Given the description of an element on the screen output the (x, y) to click on. 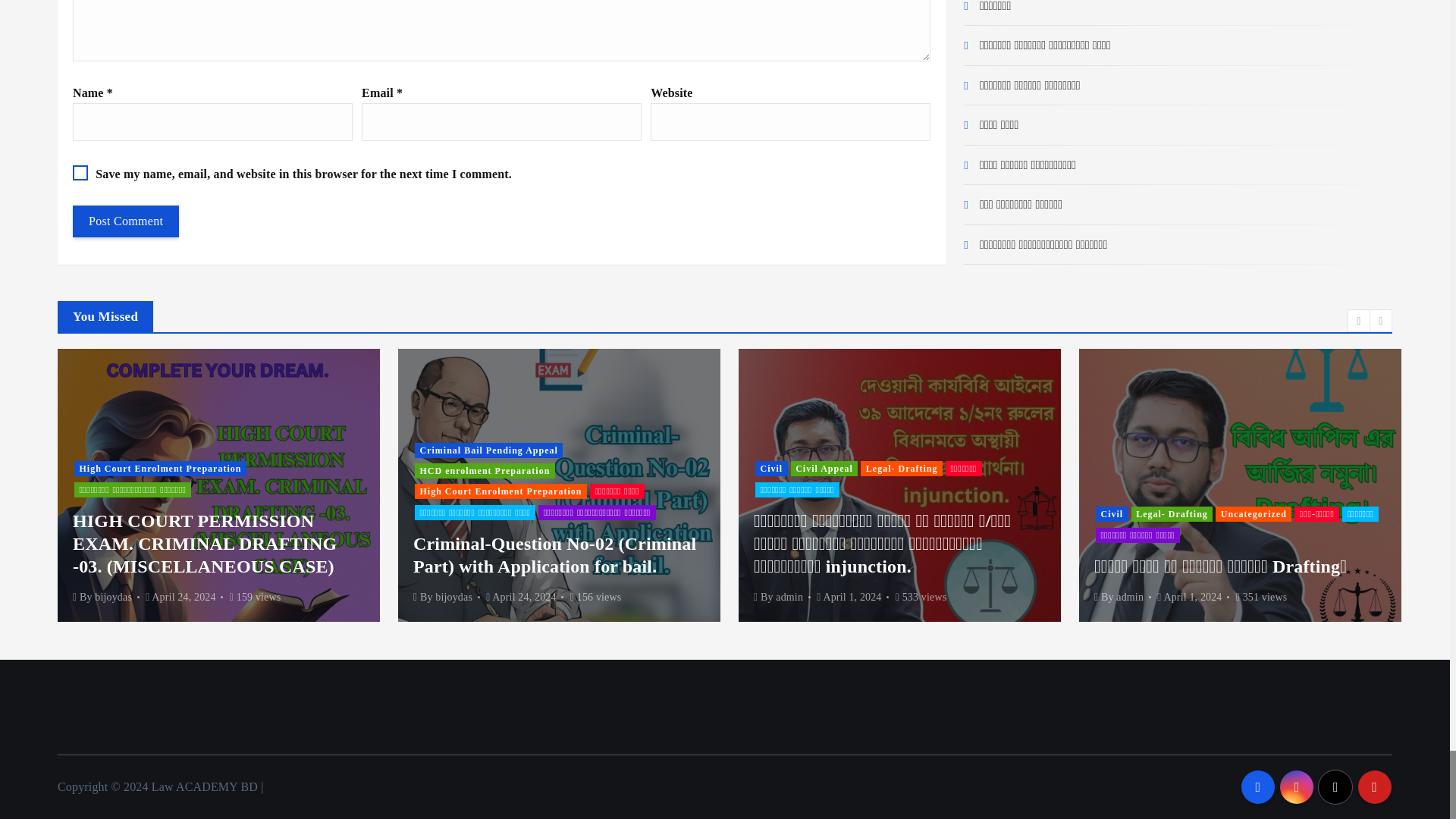
yes (79, 172)
Post Comment (125, 221)
